Given the description of an element on the screen output the (x, y) to click on. 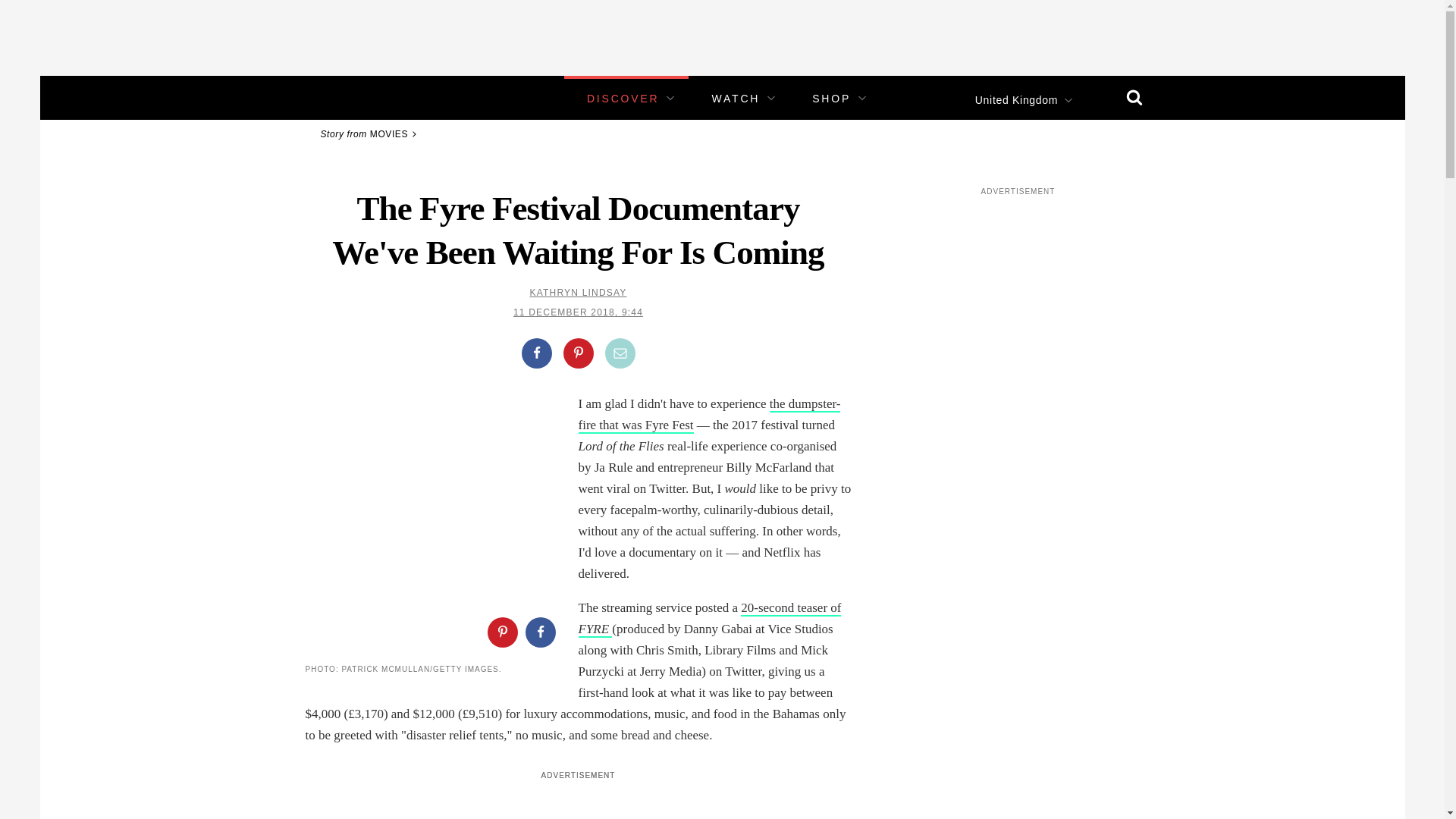
20-second teaser of FYRE (709, 619)
Share on Pinterest (501, 632)
DISCOVER (622, 98)
WATCH (735, 98)
SHOP (831, 98)
the dumpster-fire that was Fyre Fest (709, 415)
KATHRYN LINDSAY (577, 292)
Story from MOVIES (371, 133)
Share by Email (619, 353)
11 DECEMBER 2018, 9:44 (578, 312)
